Given the description of an element on the screen output the (x, y) to click on. 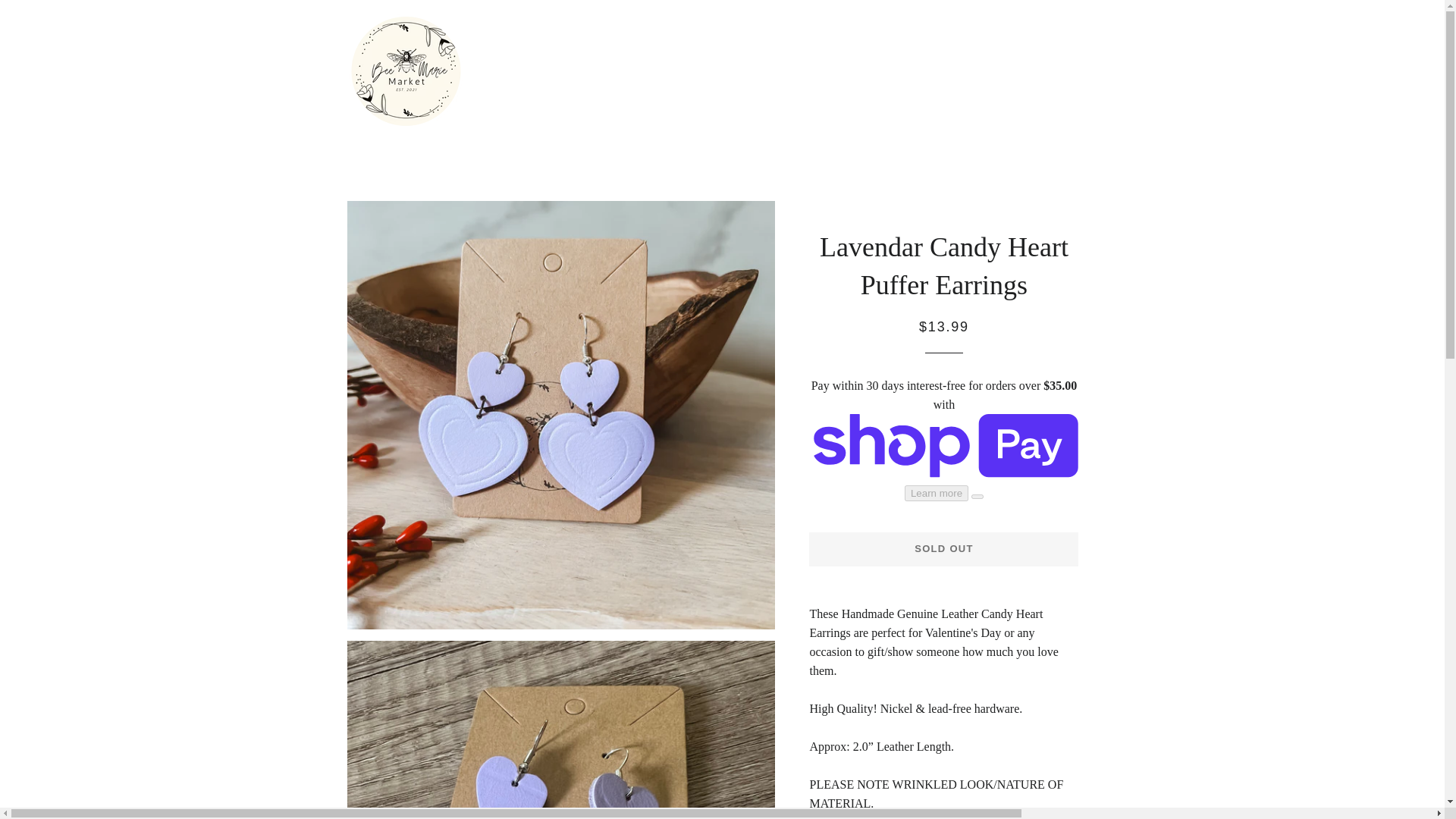
SOLD OUT (943, 548)
